Given the description of an element on the screen output the (x, y) to click on. 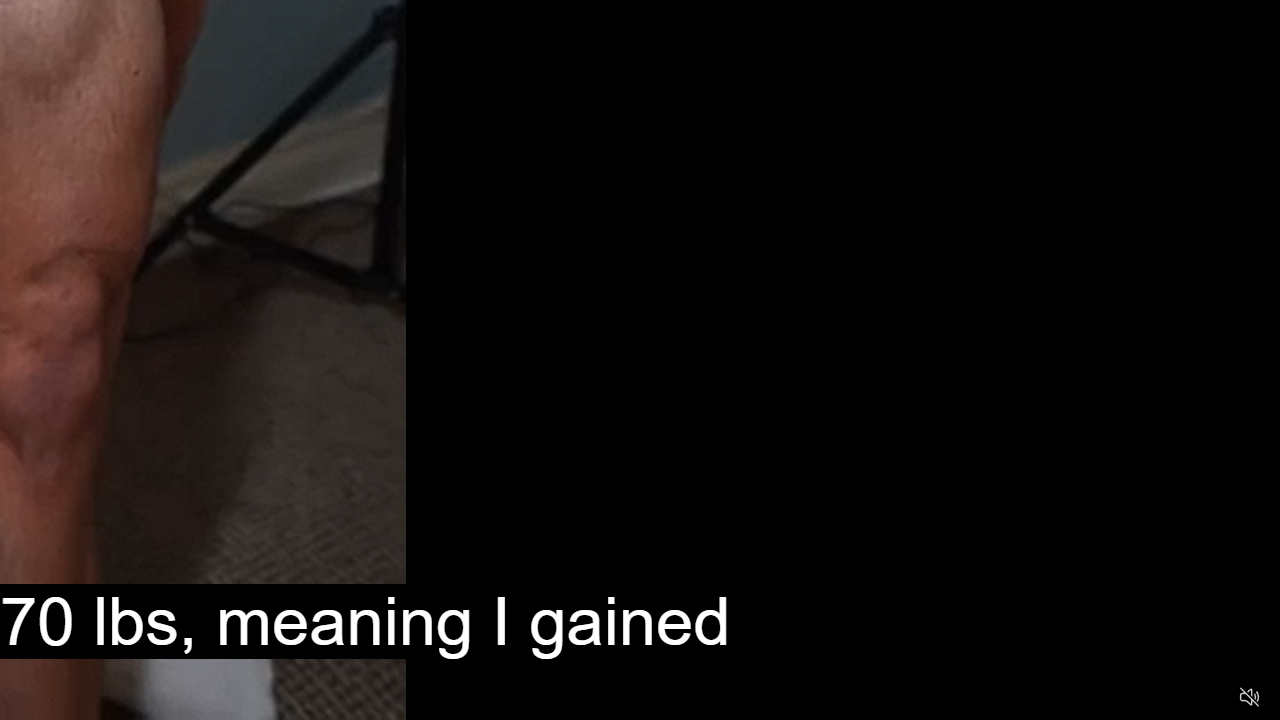
Captions (1171, 697)
Non-Fullscreen (1211, 697)
Quality Settings (1132, 697)
Unmute (1249, 696)
